Given the description of an element on the screen output the (x, y) to click on. 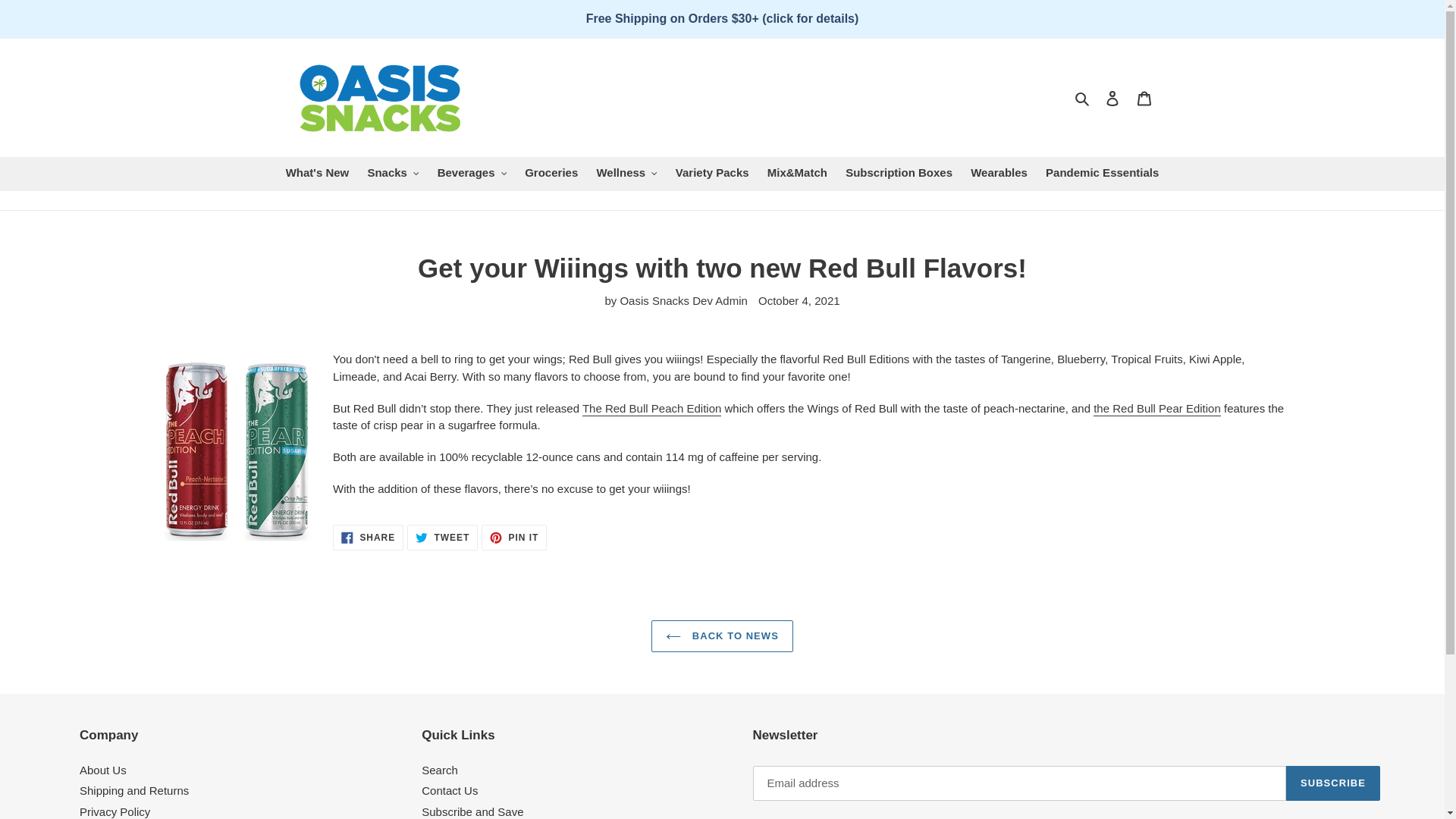
Log in (1112, 97)
Cart (1144, 97)
Search (1083, 97)
